Given the description of an element on the screen output the (x, y) to click on. 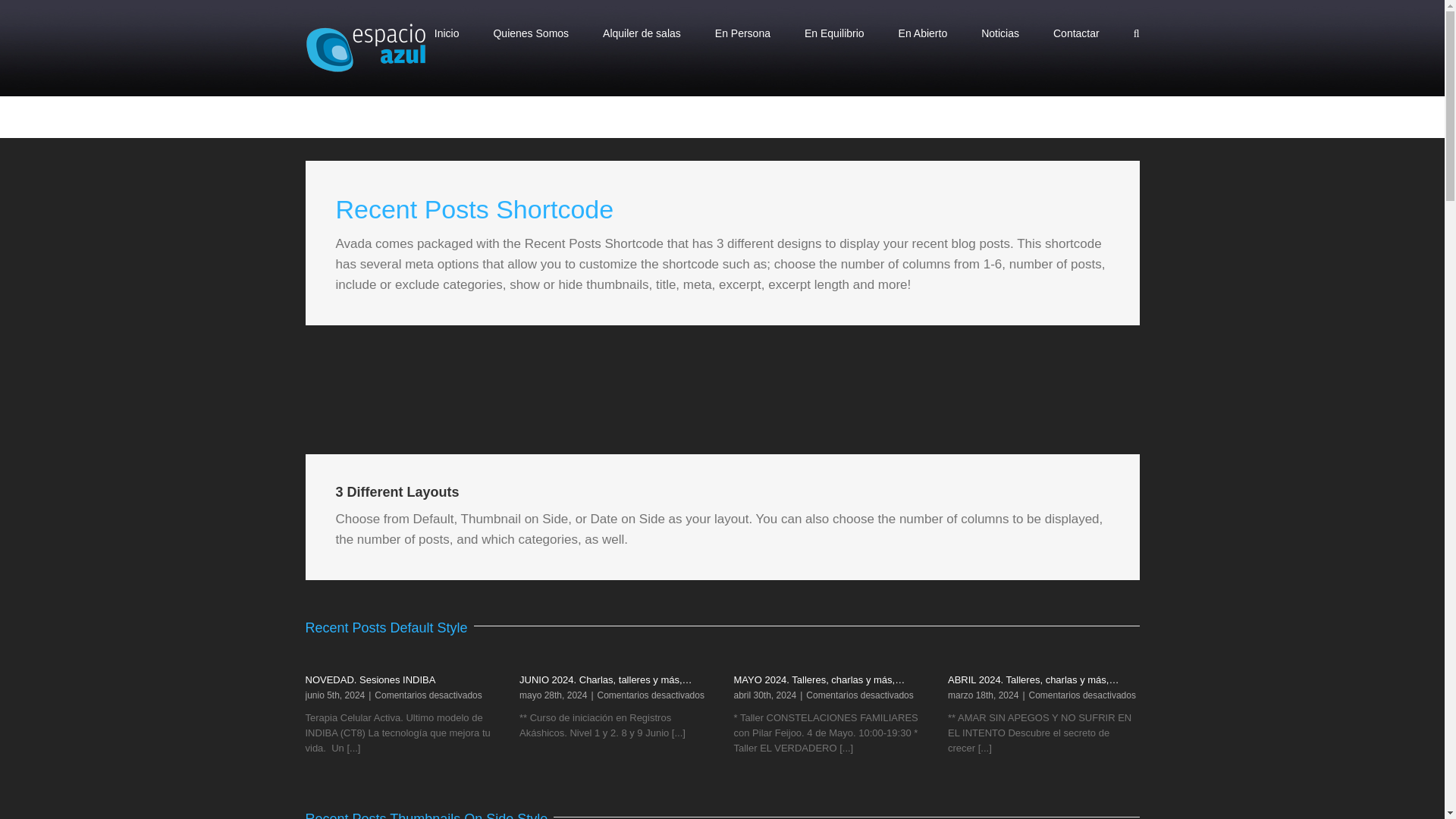
Alquiler de salas (641, 32)
En Equilibrio (834, 32)
Quienes Somos (531, 32)
NOVEDAD. Sesiones INDIBA (369, 679)
